Given the description of an element on the screen output the (x, y) to click on. 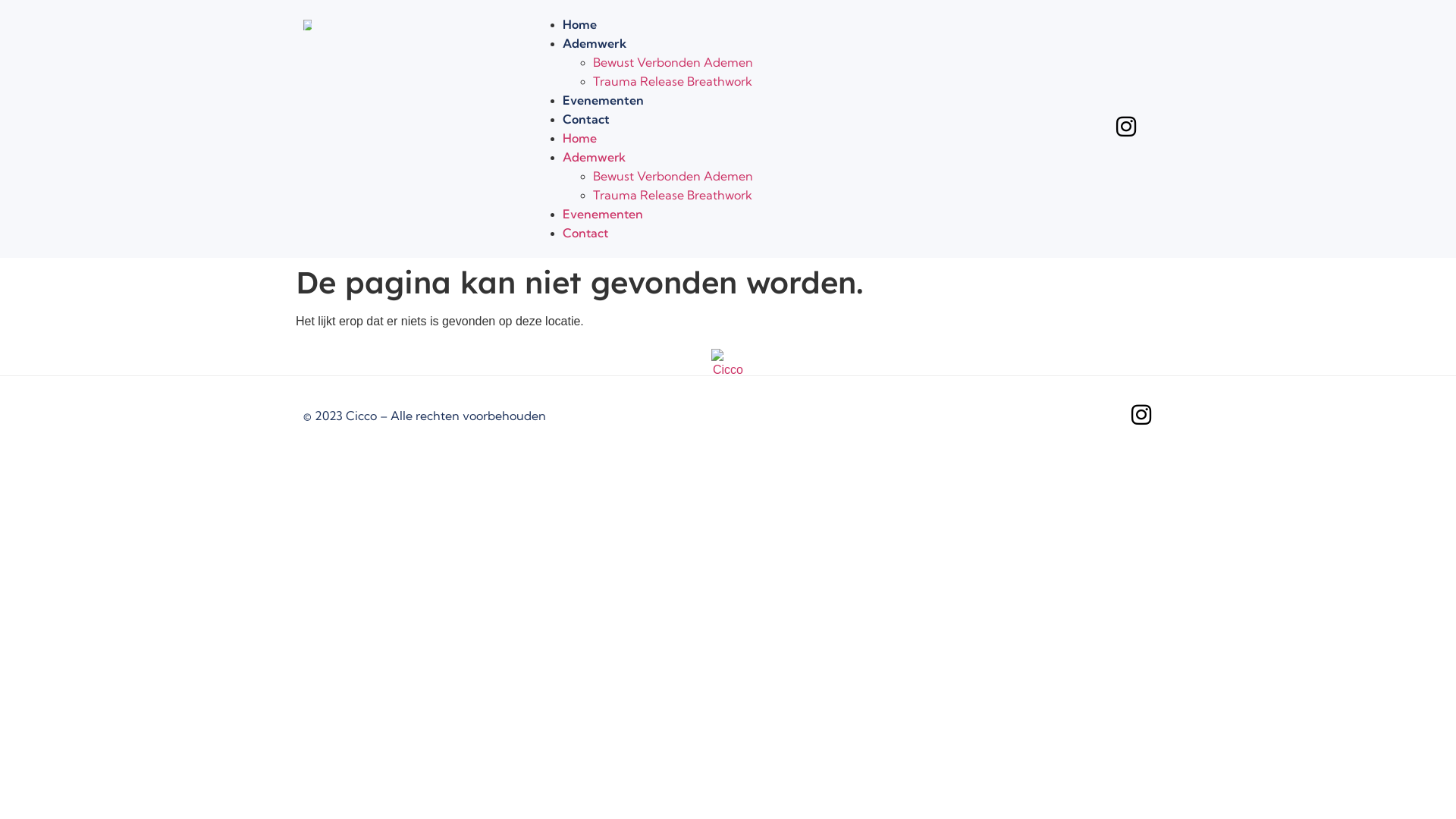
Bewust Verbonden Ademen Element type: text (673, 175)
Bewust Verbonden Ademen Element type: text (673, 61)
Contact Element type: text (585, 118)
Home Element type: text (579, 23)
Home Element type: text (579, 137)
Evenementen Element type: text (602, 99)
Trauma Release Breathwork Element type: text (672, 194)
Ademwerk Element type: text (594, 42)
Contact Element type: text (585, 232)
Ademwerk Element type: text (593, 156)
Trauma Release Breathwork Element type: text (672, 80)
Evenementen Element type: text (602, 213)
